Given the description of an element on the screen output the (x, y) to click on. 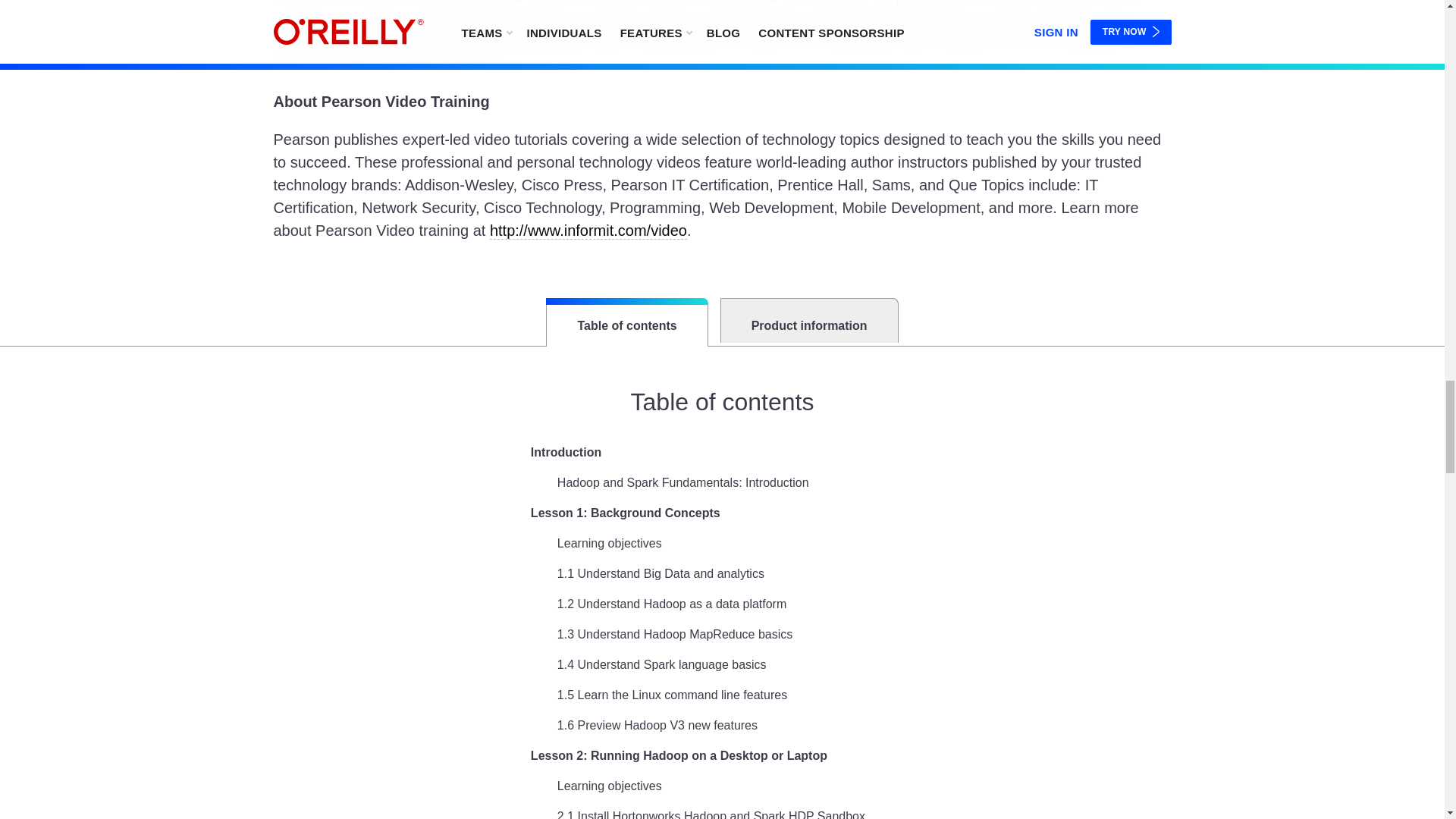
Introduction (566, 452)
Table of contents (626, 322)
1.3 Understand Hadoop MapReduce basics (674, 634)
1.2 Understand Hadoop as a data platform (671, 604)
Learning objectives (609, 543)
Product information (809, 320)
1.1 Understand Big Data and analytics (660, 574)
1.6 Preview Hadoop V3 new features (657, 725)
1.4 Understand Spark language basics (662, 665)
Lesson 1: Background Concepts (625, 513)
